Given the description of an element on the screen output the (x, y) to click on. 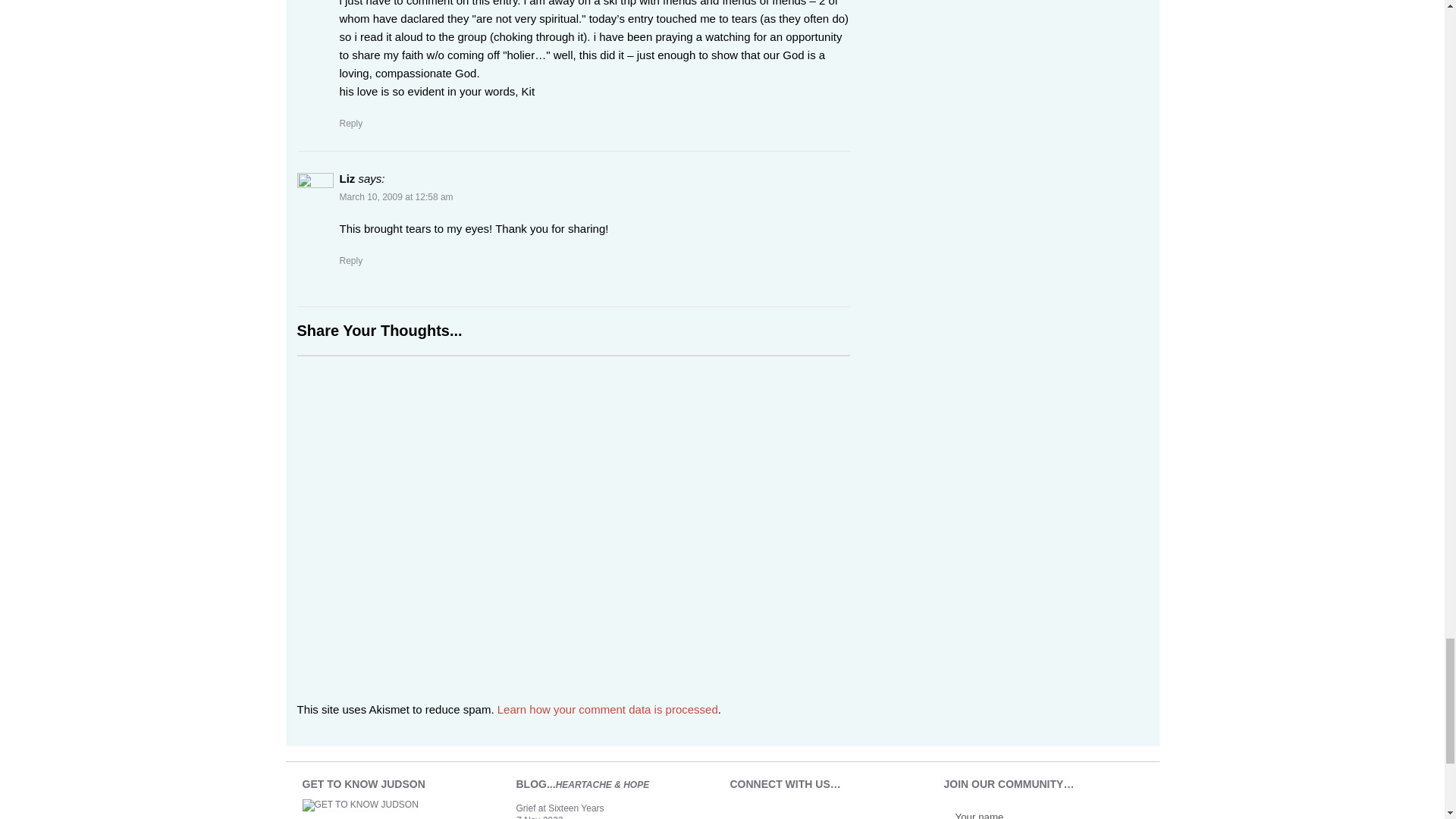
Your name (1024, 812)
Permanent link to Grief at Sixteen Years (559, 808)
GET TO KNOW JUDSON (370, 809)
Ok (1115, 816)
